Given the description of an element on the screen output the (x, y) to click on. 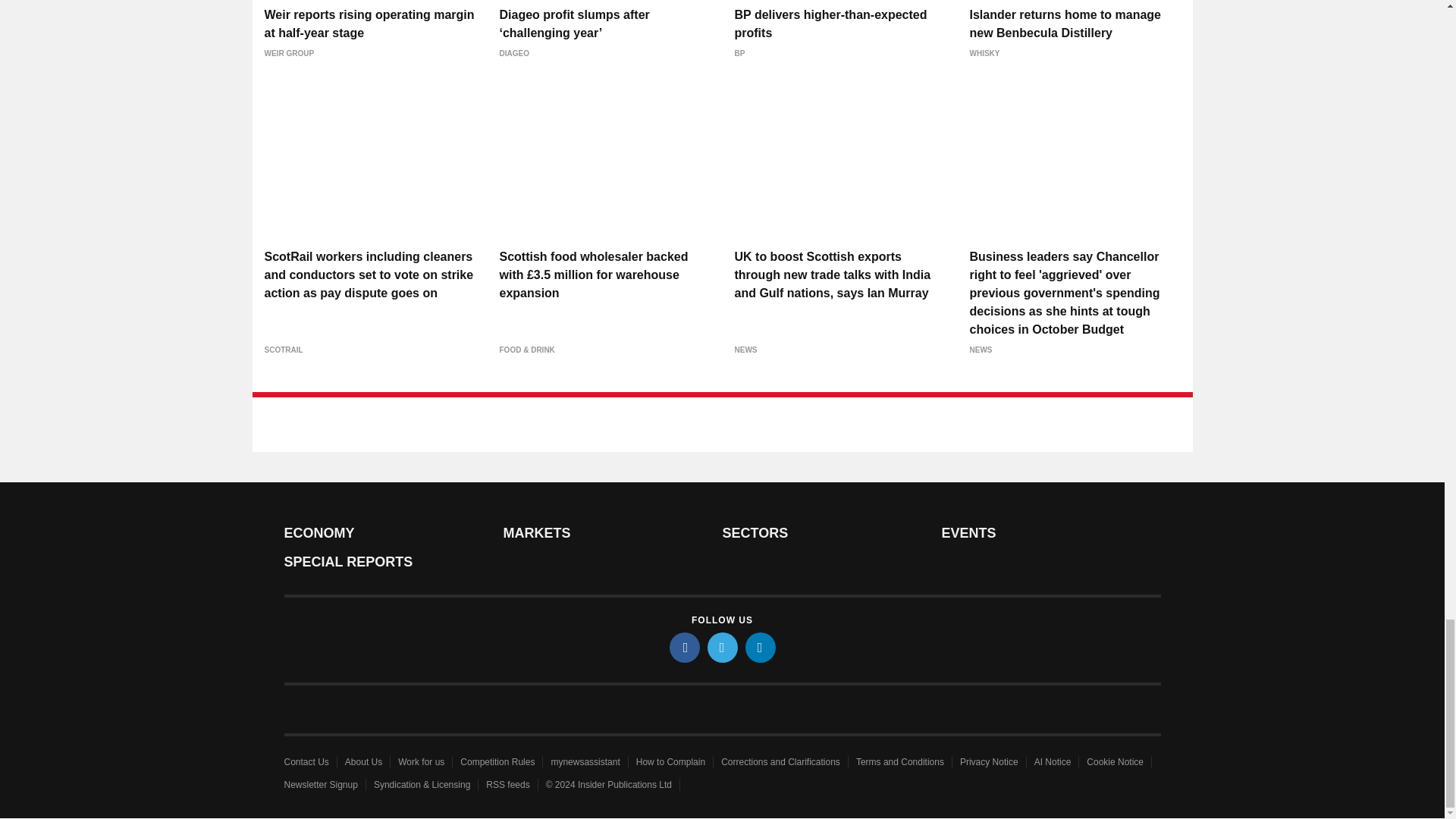
linkedin (759, 647)
twitter (721, 647)
facebook (683, 647)
